Given the description of an element on the screen output the (x, y) to click on. 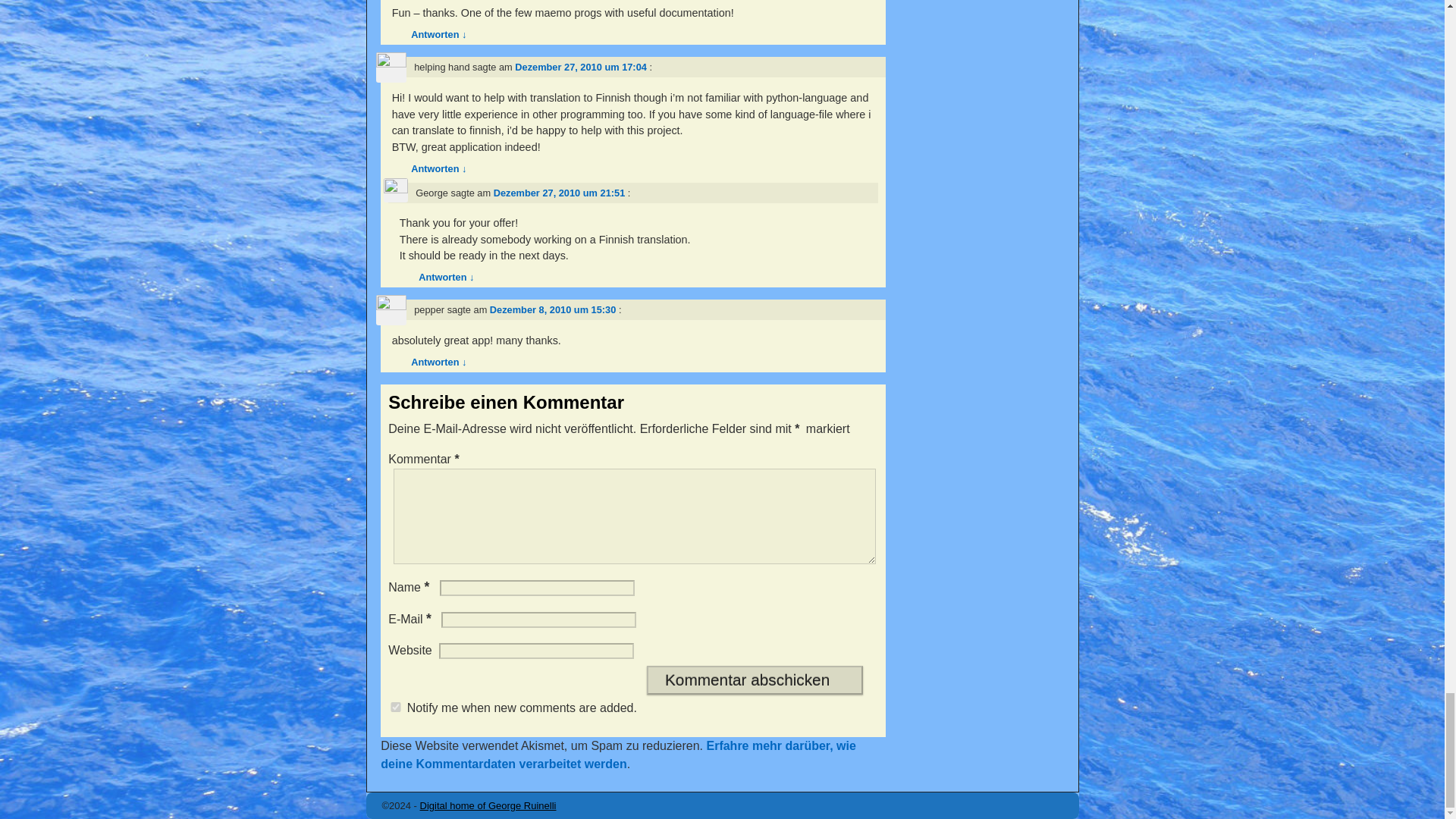
Digital home of George Ruinelli (488, 805)
1 (395, 706)
Kommentar abschicken (754, 679)
